Given the description of an element on the screen output the (x, y) to click on. 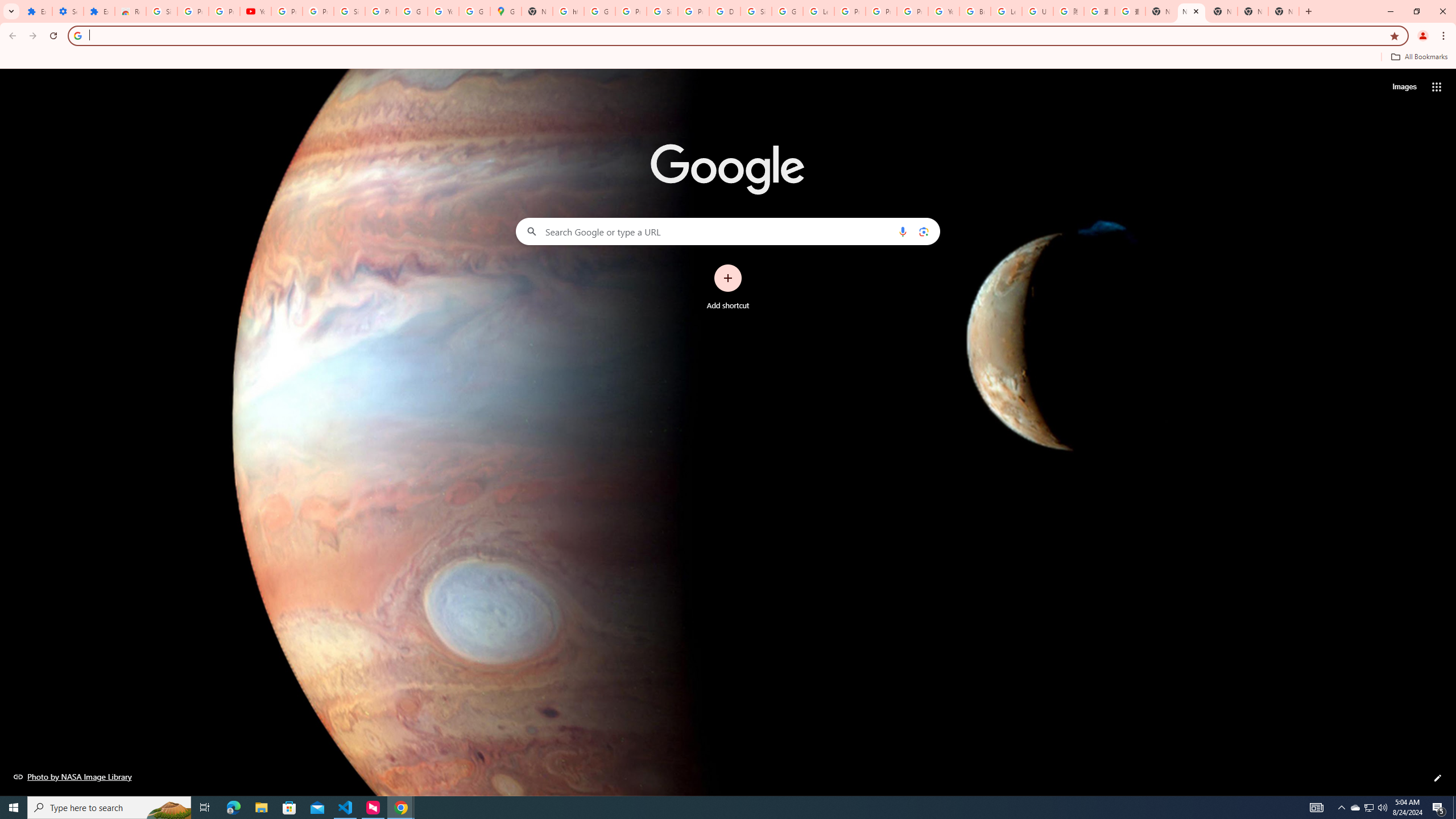
New Tab (1283, 11)
Delete specific Google services or your Google Account (724, 11)
